Given the description of an element on the screen output the (x, y) to click on. 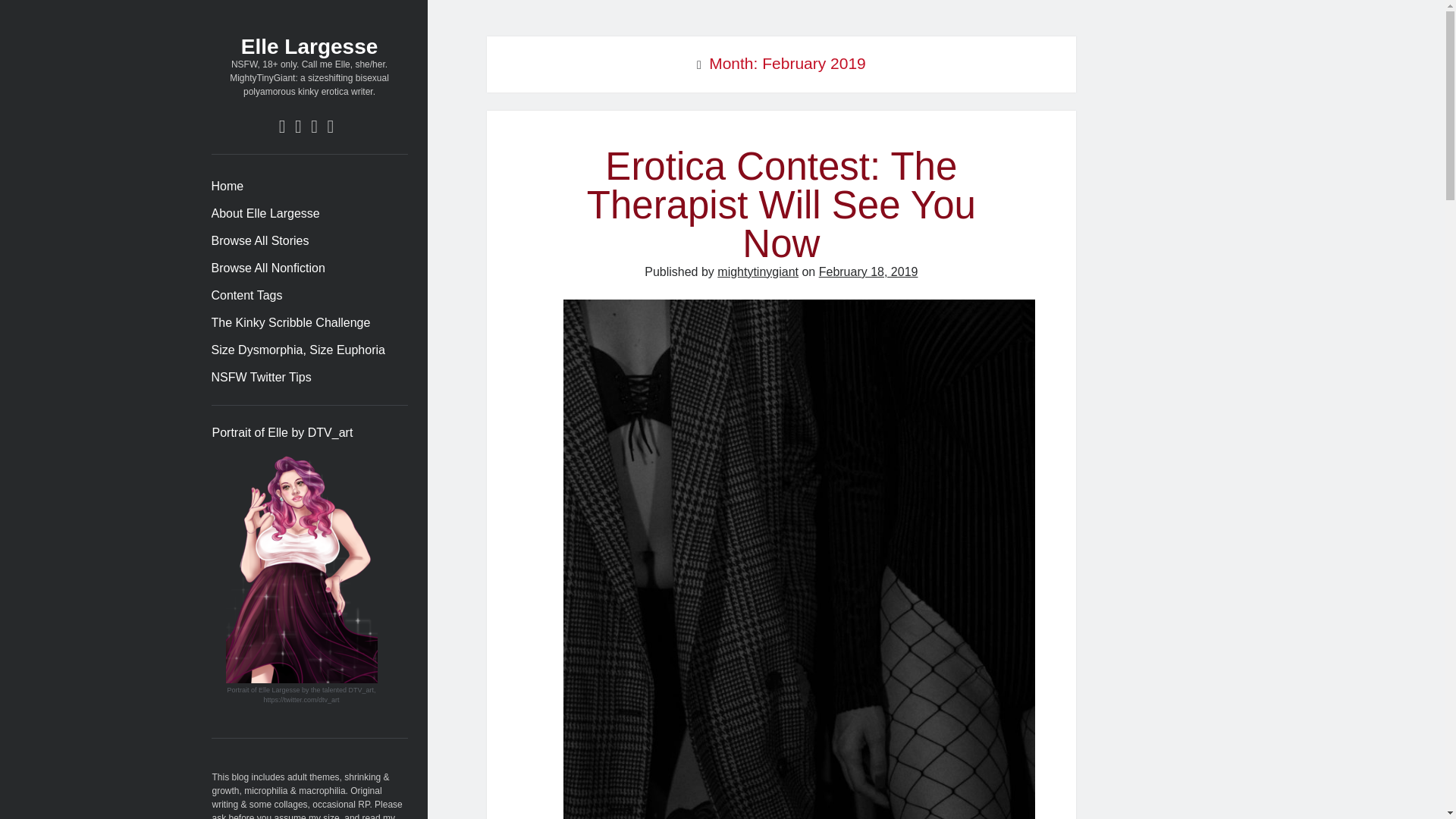
Browse All Stories (259, 240)
Content Tags (246, 295)
The Kinky Scribble Challenge (290, 322)
Home (227, 186)
About Elle Largesse (264, 213)
Elle Largesse (309, 46)
Size Dysmorphia, Size Euphoria (297, 350)
NSFW Twitter Tips (261, 377)
Browse All Nonfiction (267, 268)
